Given the description of an element on the screen output the (x, y) to click on. 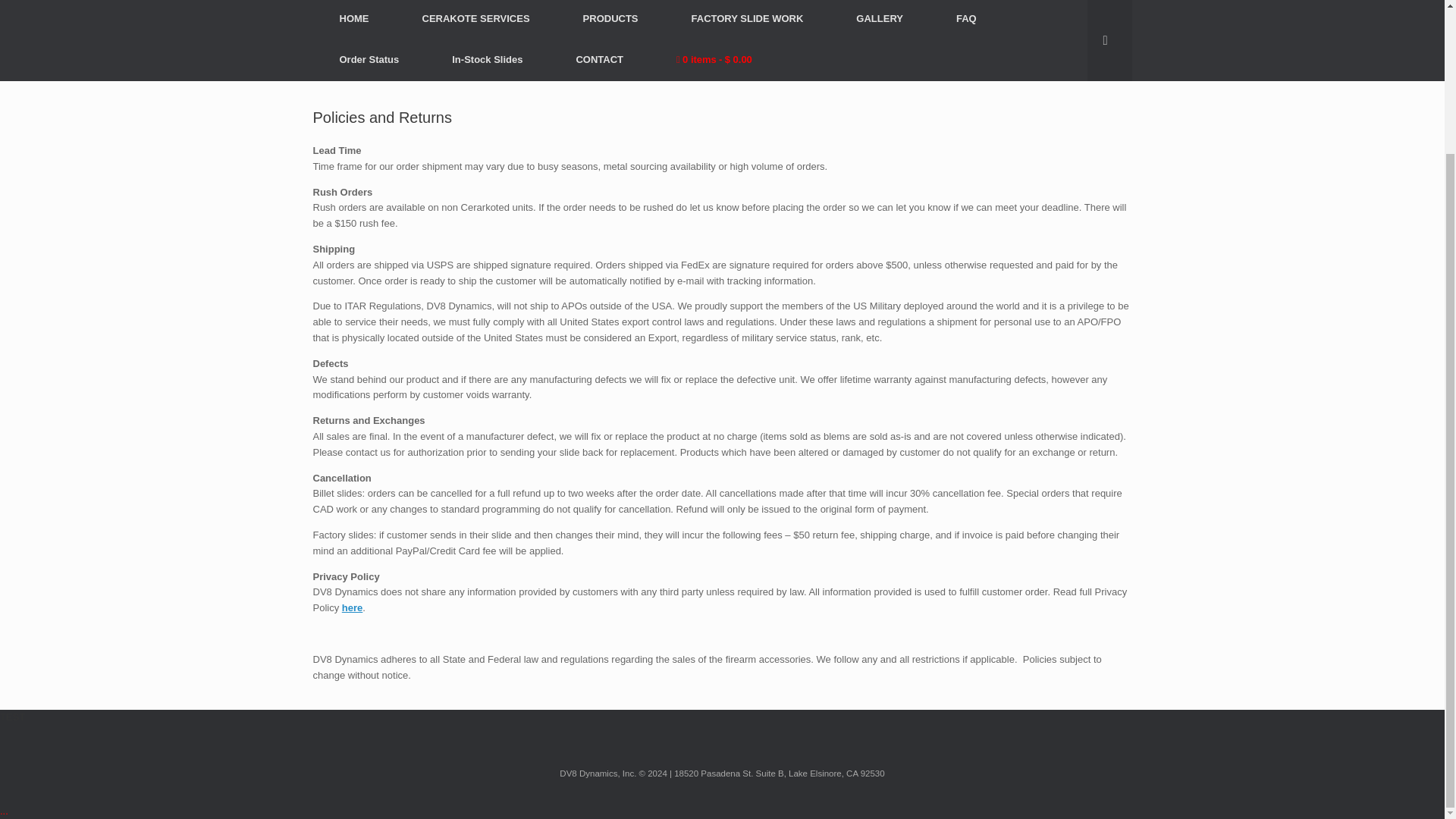
CERAKOTE SERVICES (476, 19)
GALLERY (879, 19)
Start shopping (713, 59)
HOME (353, 19)
here (352, 607)
Order Status (369, 59)
In-Stock Slides (486, 59)
FAQ (966, 19)
FACTORY SLIDE WORK (747, 19)
CONTACT (598, 59)
PRODUCTS (610, 19)
